Given the description of an element on the screen output the (x, y) to click on. 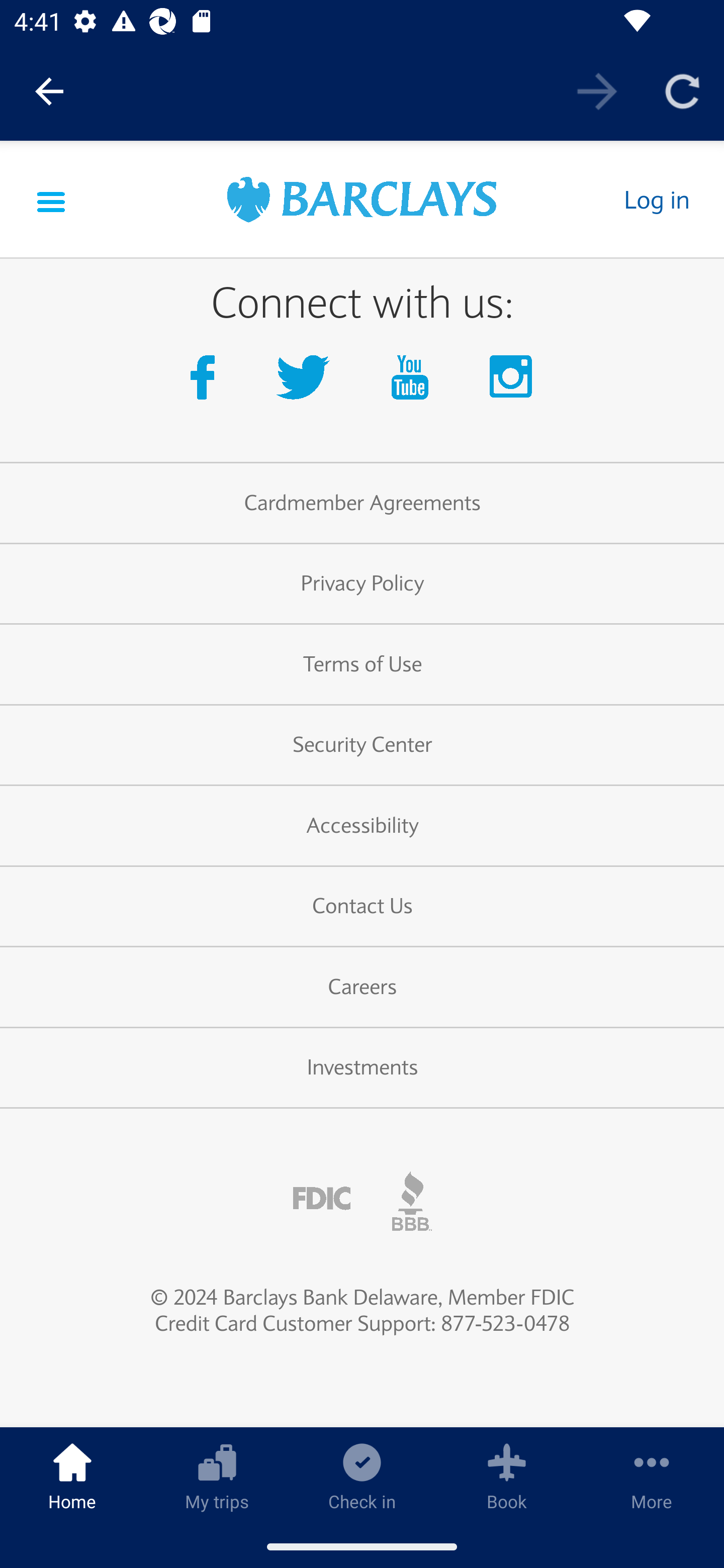
Navigate up (49, 91)
Forward (597, 90)
Reload (681, 90)
Menu (51, 199)
Log in (655, 199)
Barclays (362, 202)
Connect with Barclays US on Facebook (205, 382)
Follow Barclays US on Twitter (306, 382)
Watch Barclays US videos on YouTube (414, 382)
Follow Barclays US on Instagram (512, 382)
Cardmember Agreements (362, 503)
Privacy Policy (362, 583)
Terms of Use (362, 664)
Security Center (362, 745)
Accessibility (362, 826)
Contact Us (362, 907)
Careers (362, 987)
Investments (362, 1069)
Insured by the FDIC (321, 1199)
View the Better Business Bureau accreditation (411, 1200)
My trips (216, 1475)
Check in (361, 1475)
Book (506, 1475)
More (651, 1475)
